Given the description of an element on the screen output the (x, y) to click on. 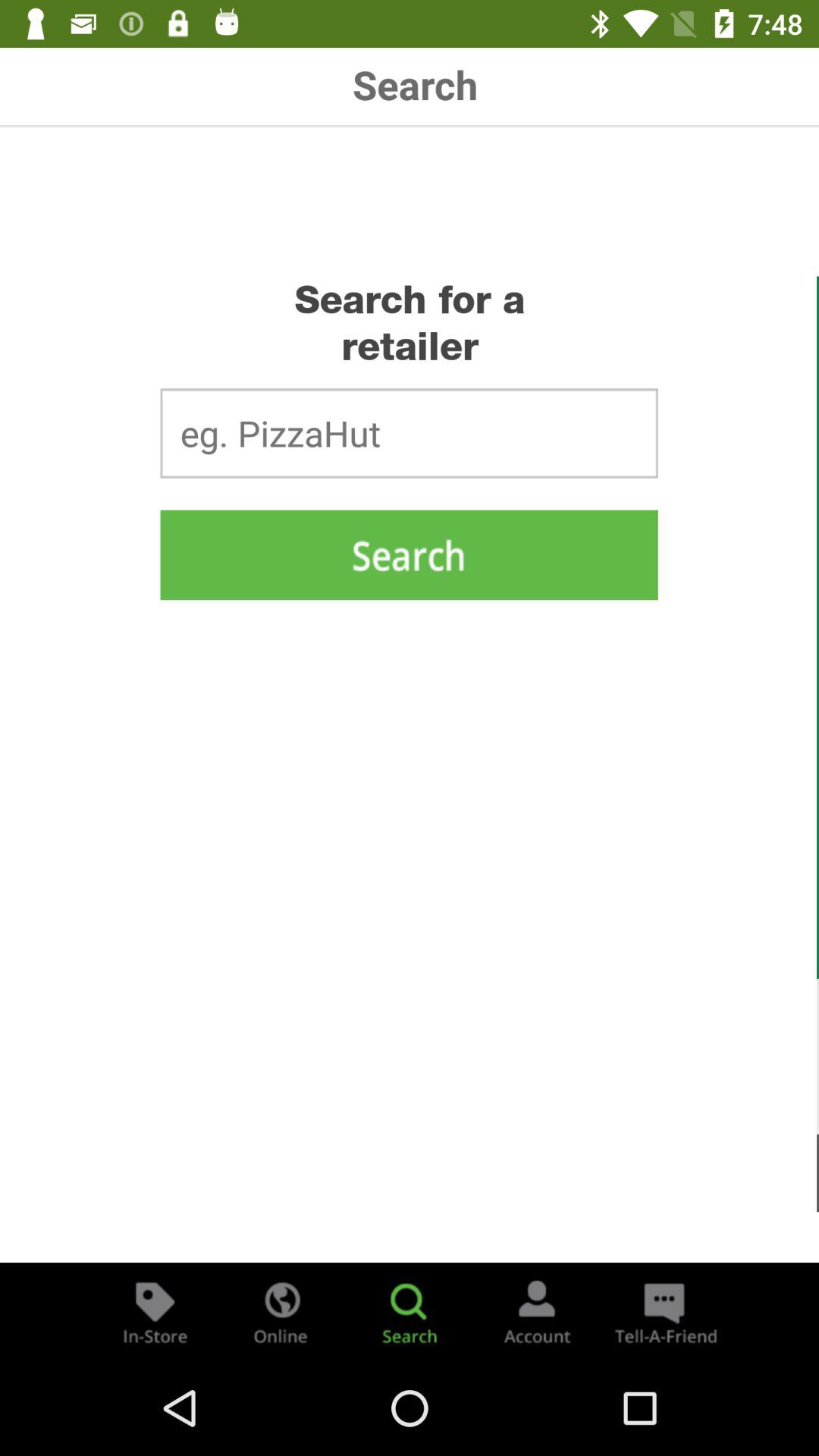
click to access internet (281, 1311)
